Given the description of an element on the screen output the (x, y) to click on. 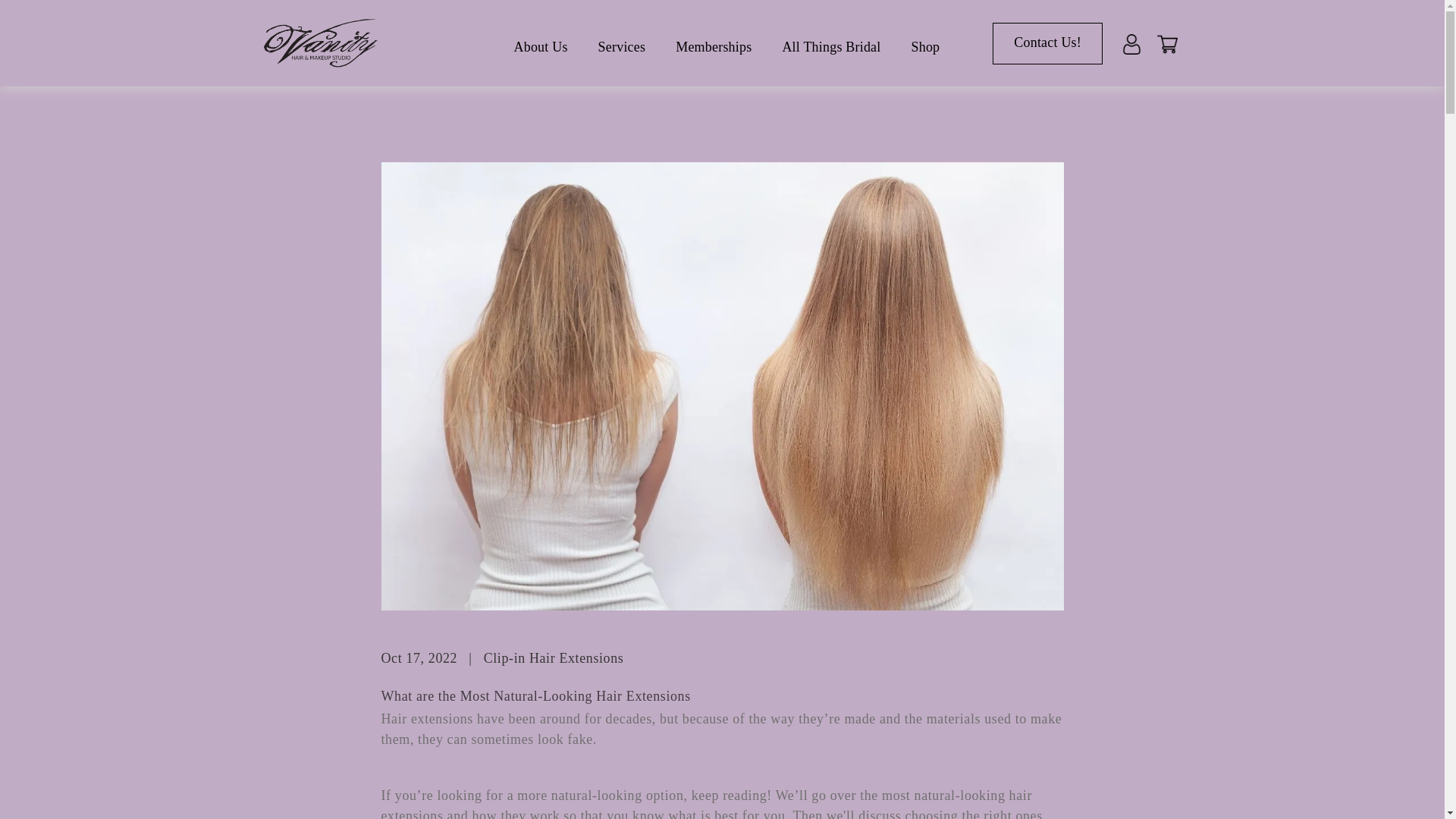
Memberships (713, 46)
About Us (540, 46)
Services (622, 46)
Contact Us! (1047, 42)
All Things Bridal (830, 46)
Skip to content (45, 17)
Clip-in Hair Extensions (553, 658)
Shop (925, 46)
